Given the description of an element on the screen output the (x, y) to click on. 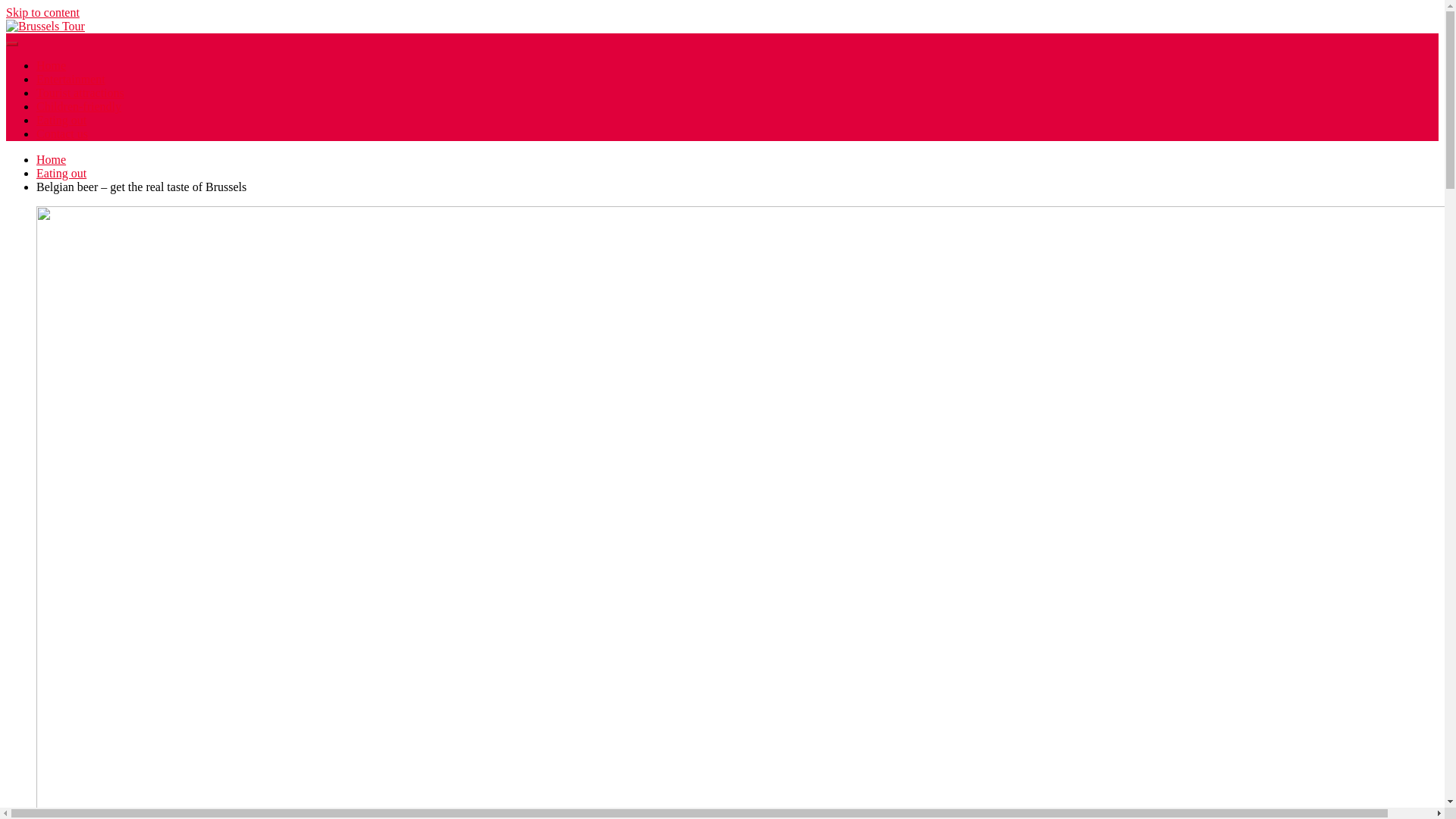
Children-friendly (78, 106)
Brussels Tour (59, 57)
Home (50, 65)
Tourist attractions (79, 92)
Eating out (60, 119)
Eating out (60, 173)
Home (50, 159)
Entertainment (70, 78)
Contact us (61, 133)
Skip to content (42, 11)
